Given the description of an element on the screen output the (x, y) to click on. 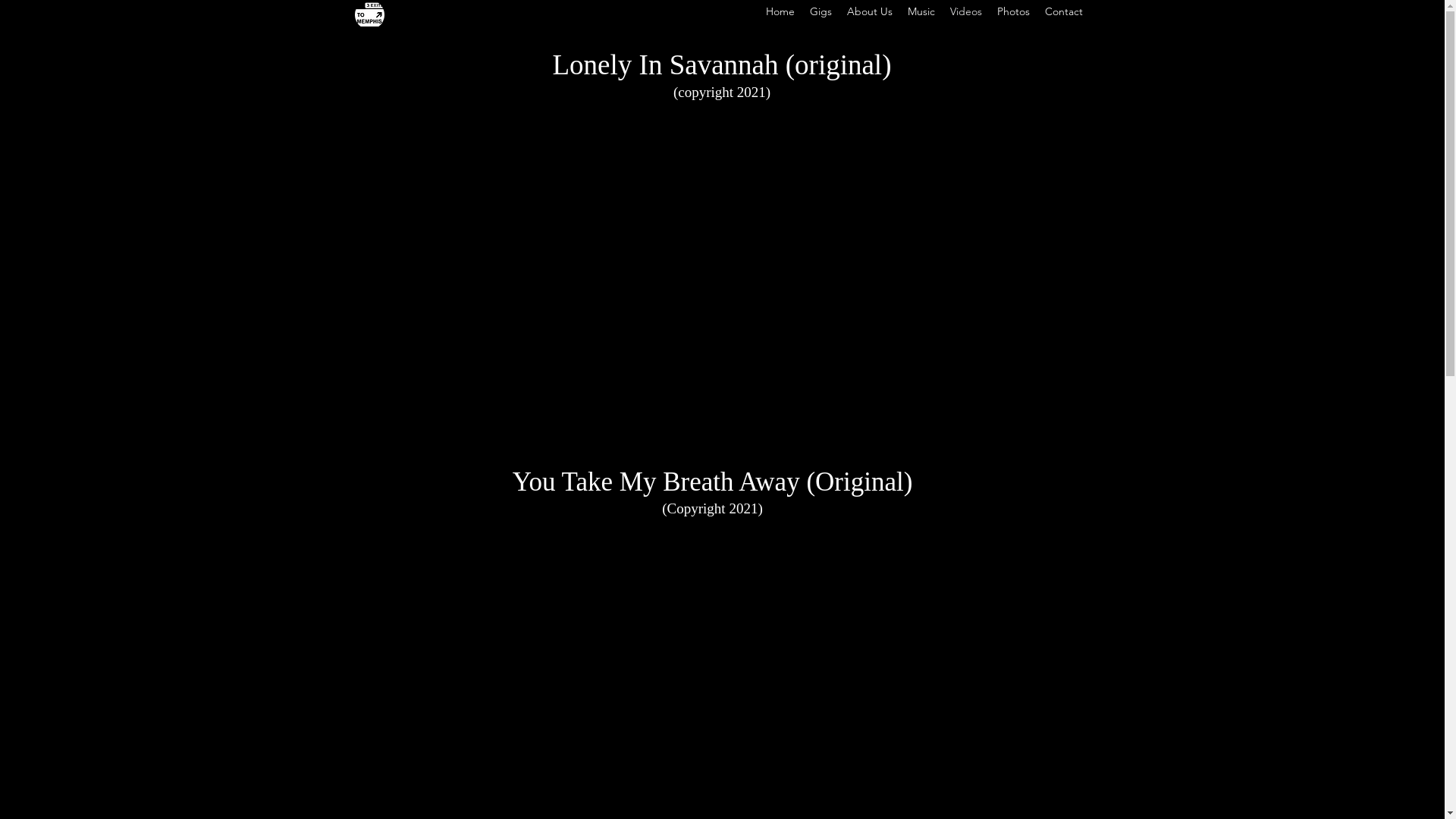
Home Element type: text (780, 11)
Videos Element type: text (964, 11)
Photos Element type: text (1012, 11)
Gigs Element type: text (820, 11)
About Us Element type: text (868, 11)
Contact Element type: text (1063, 11)
Music Element type: text (920, 11)
